Given the description of an element on the screen output the (x, y) to click on. 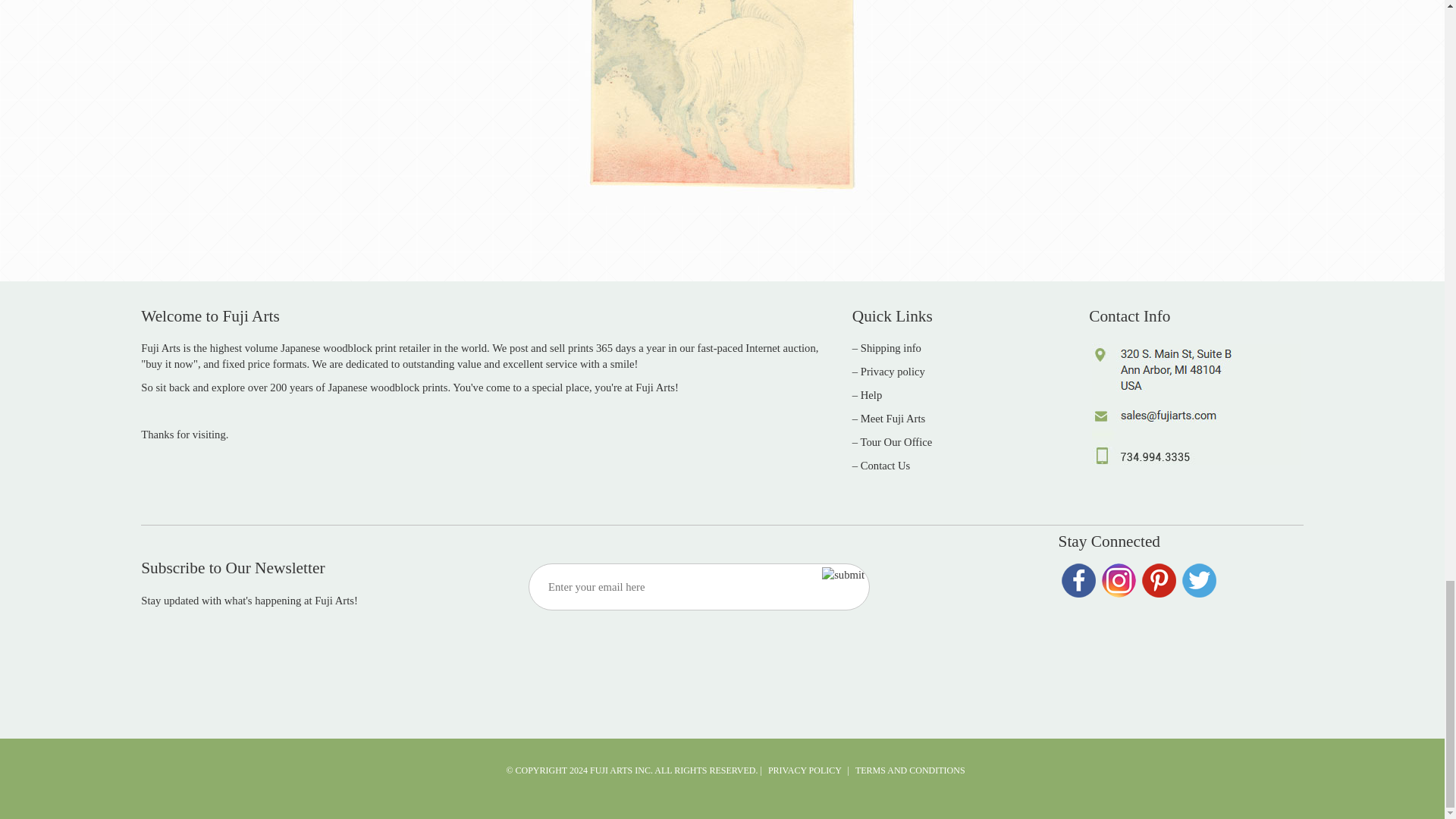
Shipping info (890, 347)
PRIVACY POLICY (805, 770)
TERMS AND CONDITIONS (910, 770)
Tour Our Office (895, 441)
Help (871, 395)
Privacy policy (892, 371)
Meet Fuji Arts (893, 418)
Contact Us (885, 465)
